Given the description of an element on the screen output the (x, y) to click on. 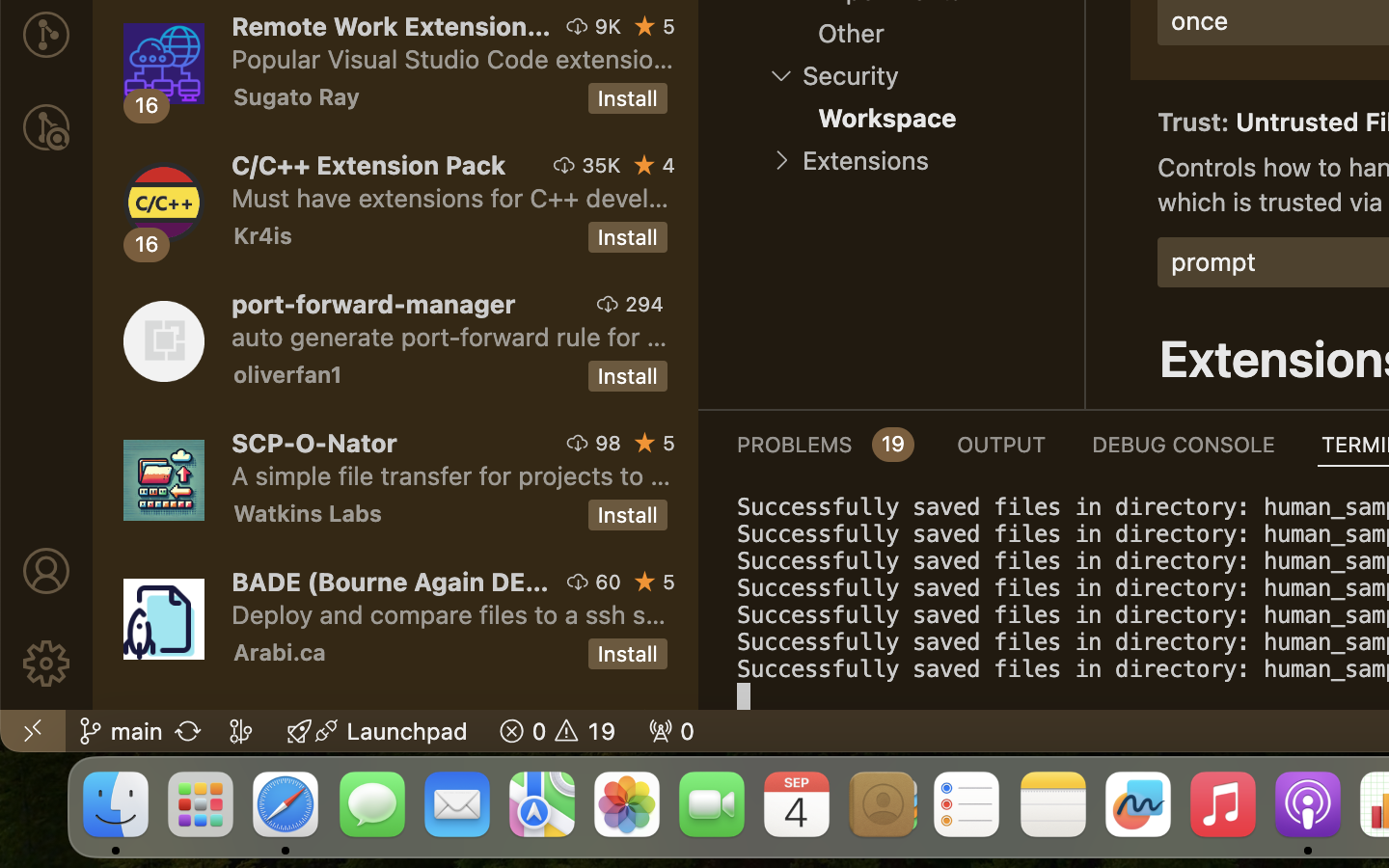
Deploy and compare files to a ssh server Element type: AXStaticText (449, 613)
98 Element type: AXStaticText (608, 442)
SCP-O-Nator Element type: AXStaticText (314, 442)
main  Element type: AXButton (120, 730)
Security Element type: AXStaticText (850, 75)
